Given the description of an element on the screen output the (x, y) to click on. 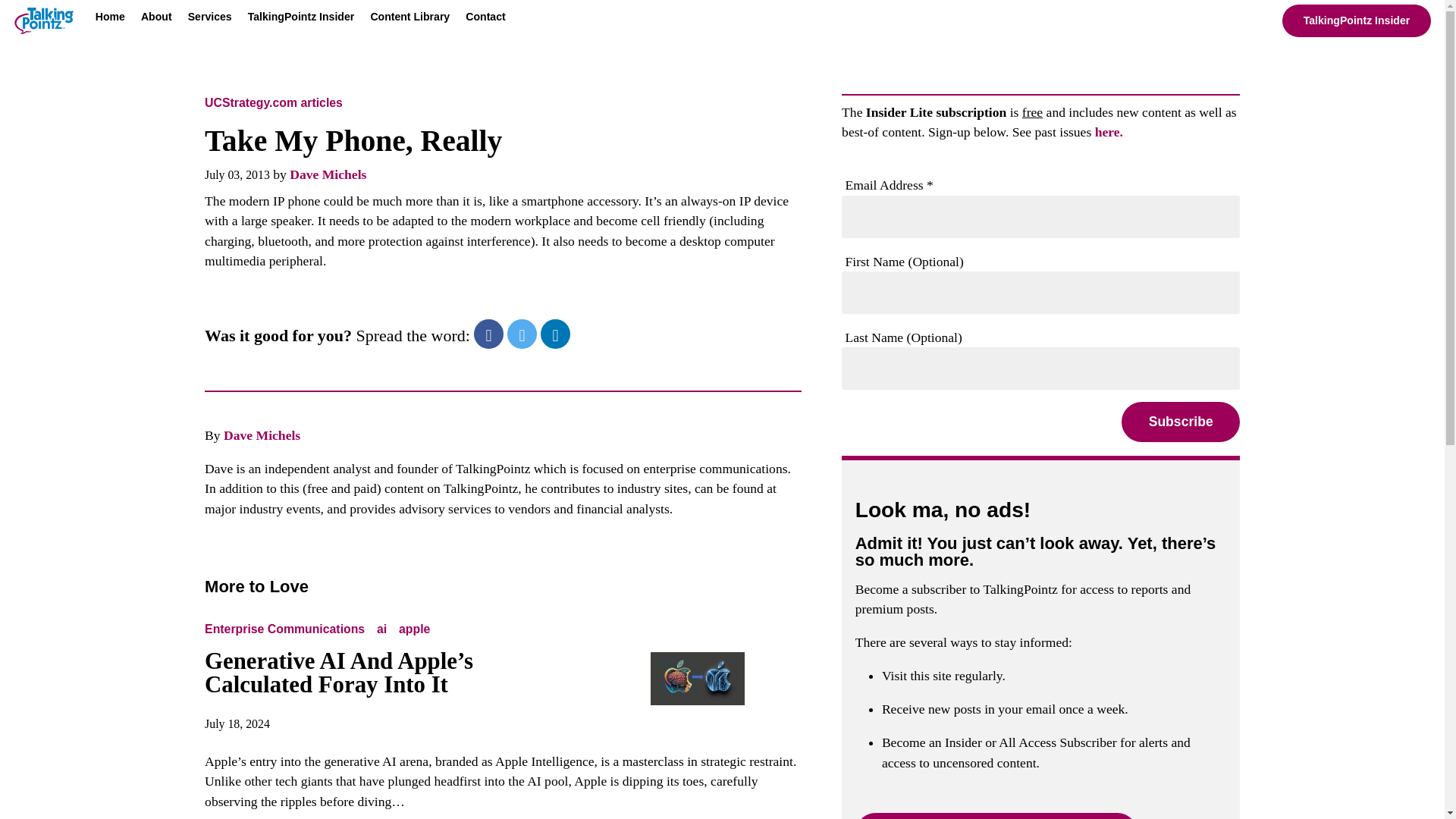
Subscribe (1180, 422)
Subscribe (1180, 422)
About (156, 20)
Return to the TalkingPointz homepage (43, 23)
TalkingPointz Insider (301, 20)
ai (382, 628)
Dave Michels (261, 435)
Contact (485, 20)
View all posts in Enterprise Communications (288, 628)
Home (110, 20)
UCStrategy.com articles (277, 102)
View all posts in apple (414, 628)
TalkingPointz Insider (1356, 20)
View all posts in UCStrategy.com articles (277, 102)
Content Library (409, 20)
